Given the description of an element on the screen output the (x, y) to click on. 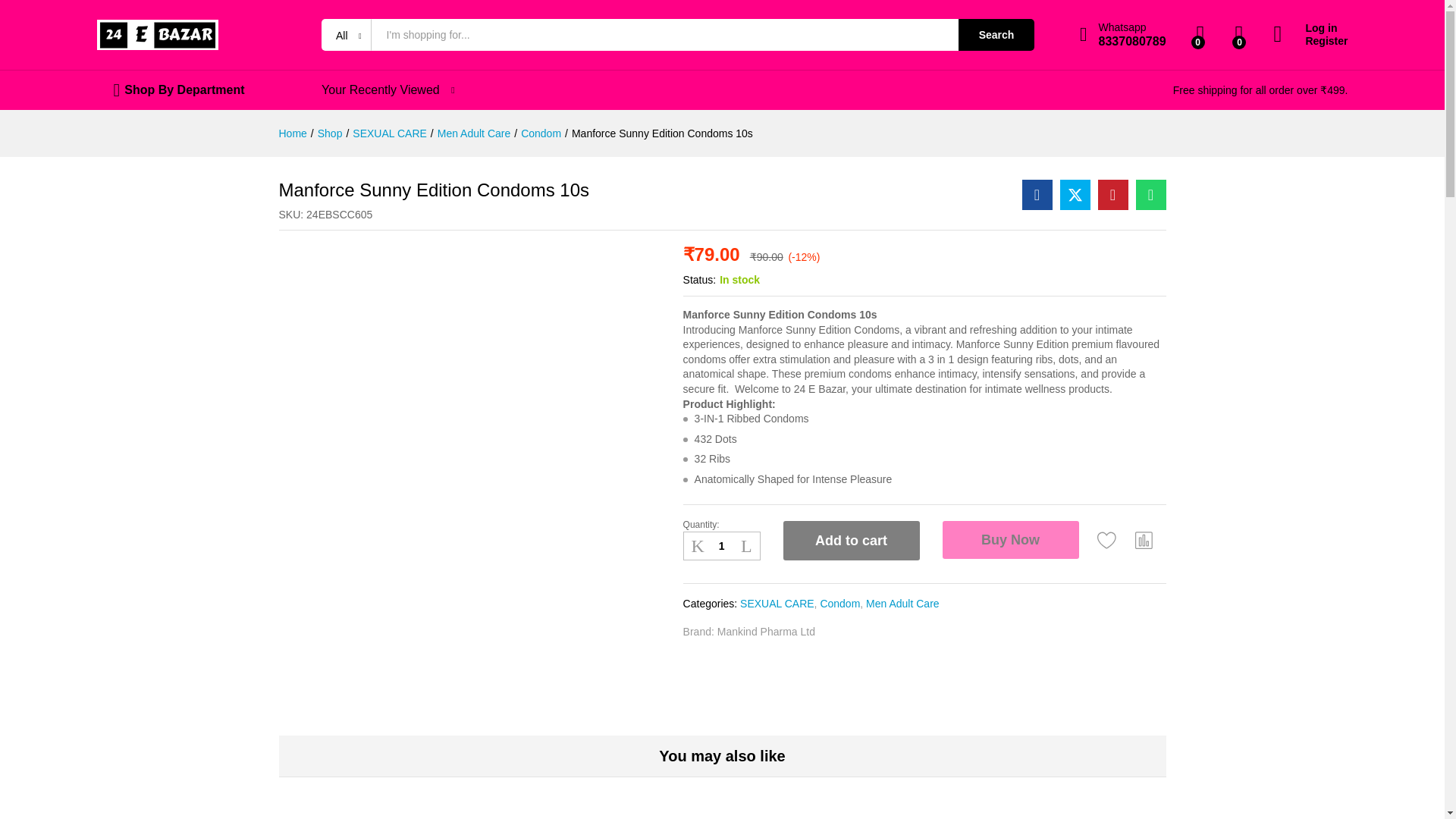
Qty (721, 545)
Manforce Sunny Edition Condoms 10s (1037, 194)
Wishlist (1106, 540)
Log in (1310, 28)
Condom (540, 133)
Home (293, 133)
SEXUAL CARE (389, 133)
Men Adult Care (474, 133)
Manforce Sunny Edition Condoms 10s (662, 133)
1 (721, 545)
Manforce Sunny Edition Condoms 10s (1150, 194)
Shop (329, 133)
Search (1123, 34)
Register (995, 34)
